Given the description of an element on the screen output the (x, y) to click on. 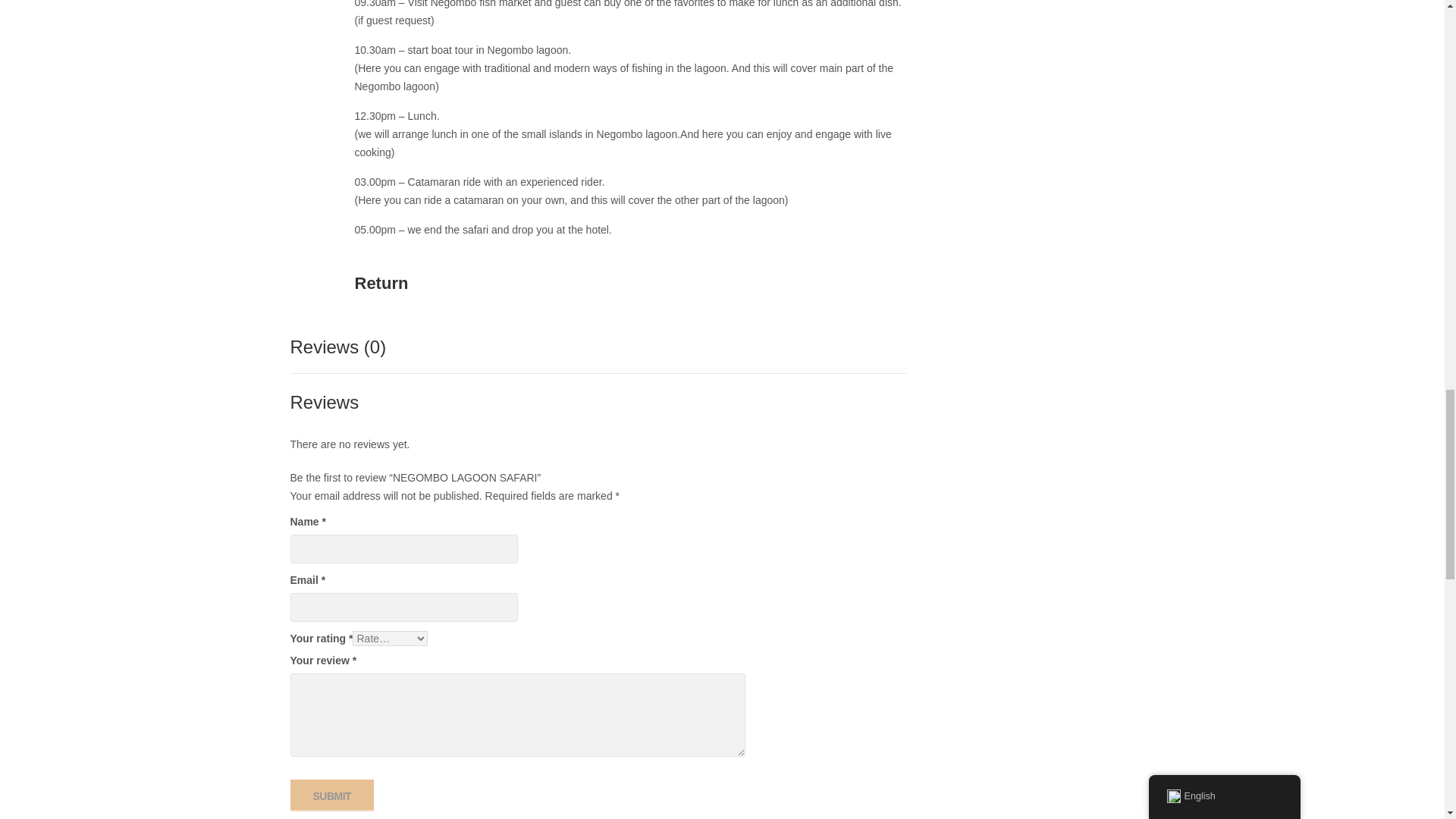
Submit (331, 794)
Submit (331, 794)
